Given the description of an element on the screen output the (x, y) to click on. 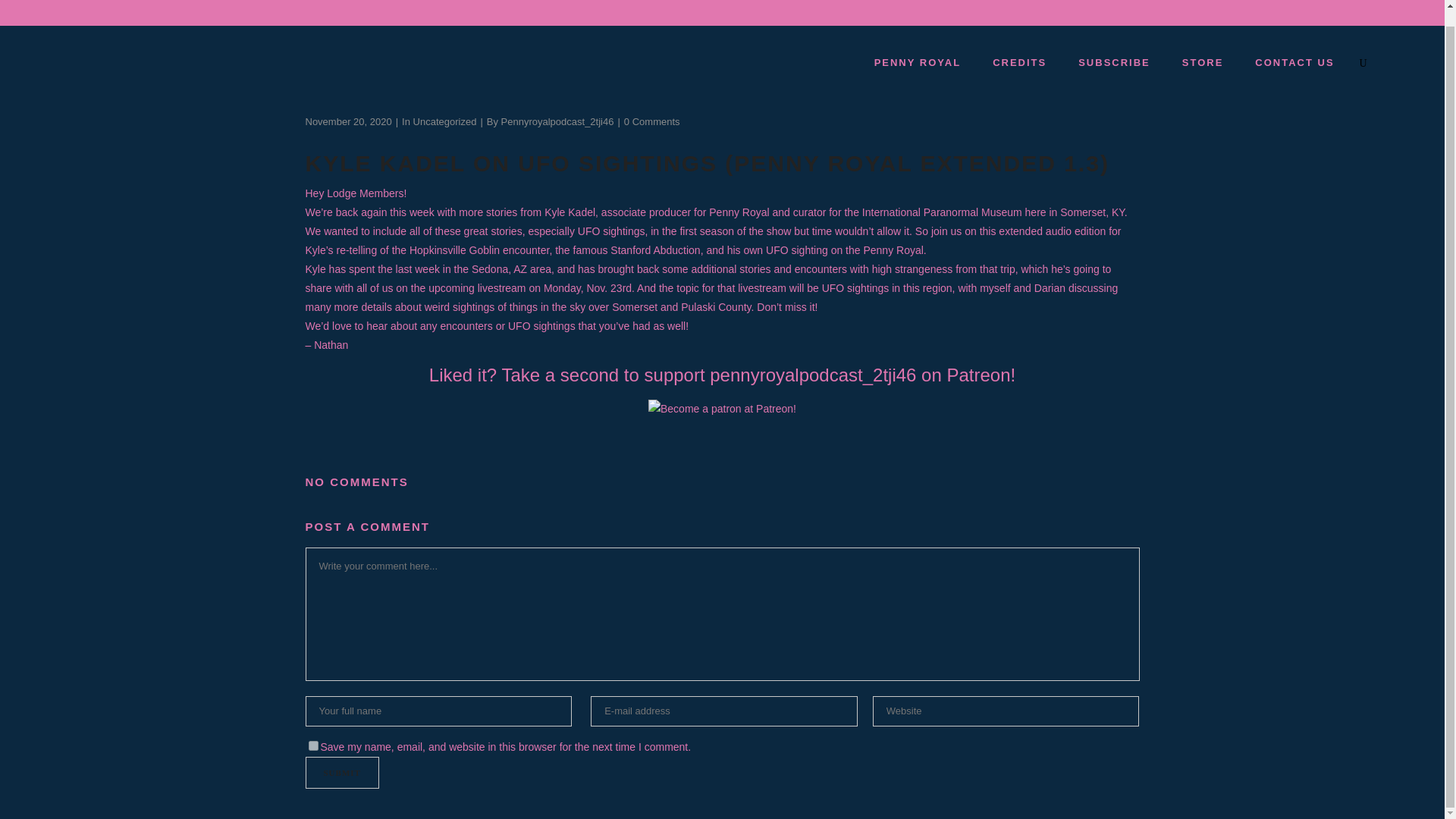
Uncategorized (445, 121)
U (998, 396)
PENNY ROYAL (917, 62)
0 Comments (651, 121)
CONTACT US (1294, 62)
Submit (341, 772)
yes (312, 746)
SUBSCRIBE (1113, 62)
Submit (341, 772)
